Given the description of an element on the screen output the (x, y) to click on. 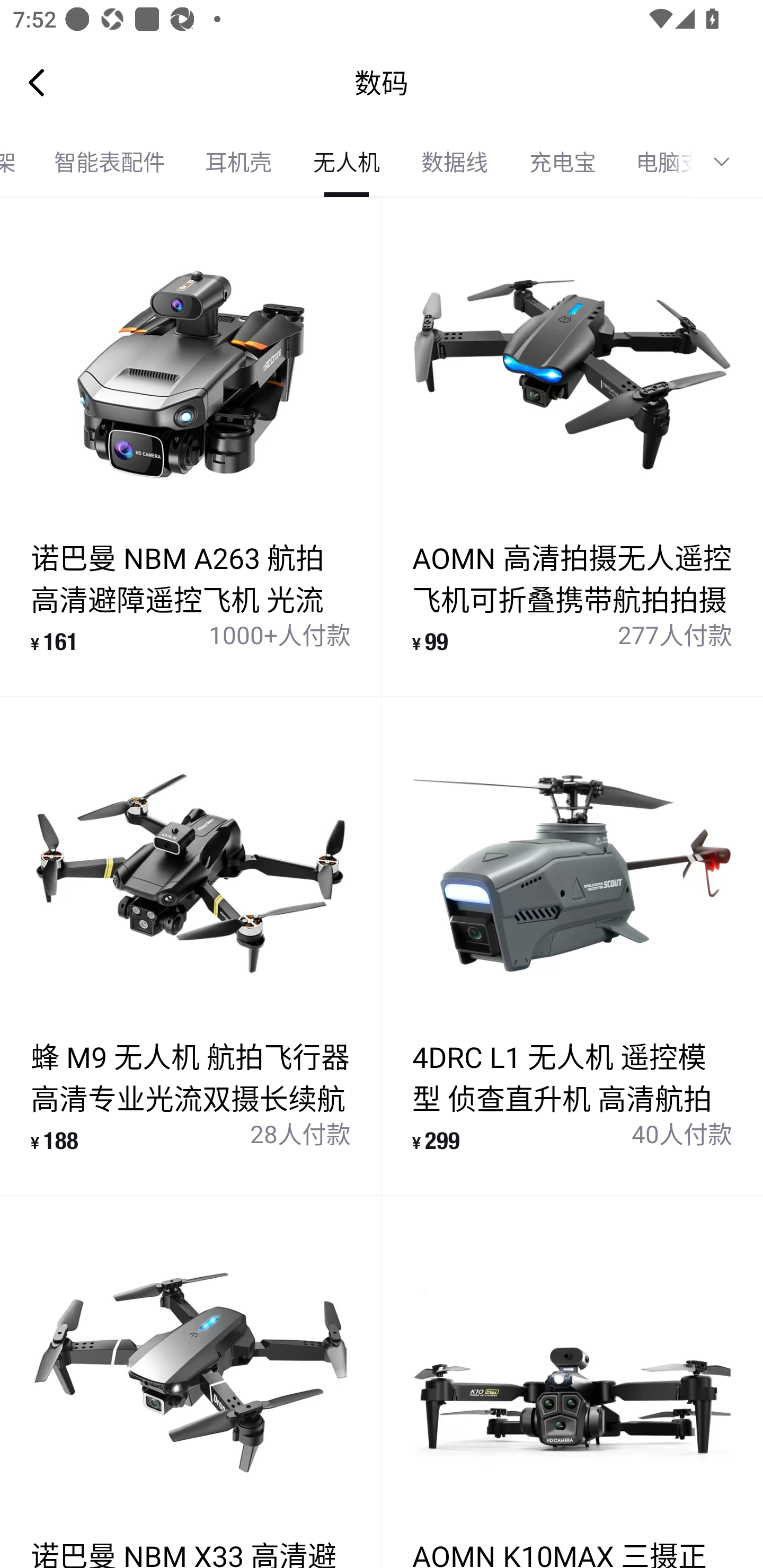
Navigate up (36, 82)
智能表配件 (109, 162)
耳机壳 (238, 162)
无人机 (346, 162)
数据线 (454, 162)
充电宝 (562, 162)
 (727, 162)
AOMN 高清拍摄无人遥控
飞机可折叠携带航拍拍摄
无人机 ¥ 99 277人付款 (572, 446)
4DRC L1 无人机 遥控模
型 侦查直升机 高清航拍
飞行器 遥控飞机 ¥ 299 40人付款 (572, 945)
诺巴曼 NBM X33 高清避
障航拍飞行器 长续航双
摄遥控飞机 无人机 (190, 1381)
AOMN K10MAX 三摄正
拍/竖拍/俯拍360°全方位
避障+电动镜头X三摄 四
面避障无人机 (572, 1381)
